Given the description of an element on the screen output the (x, y) to click on. 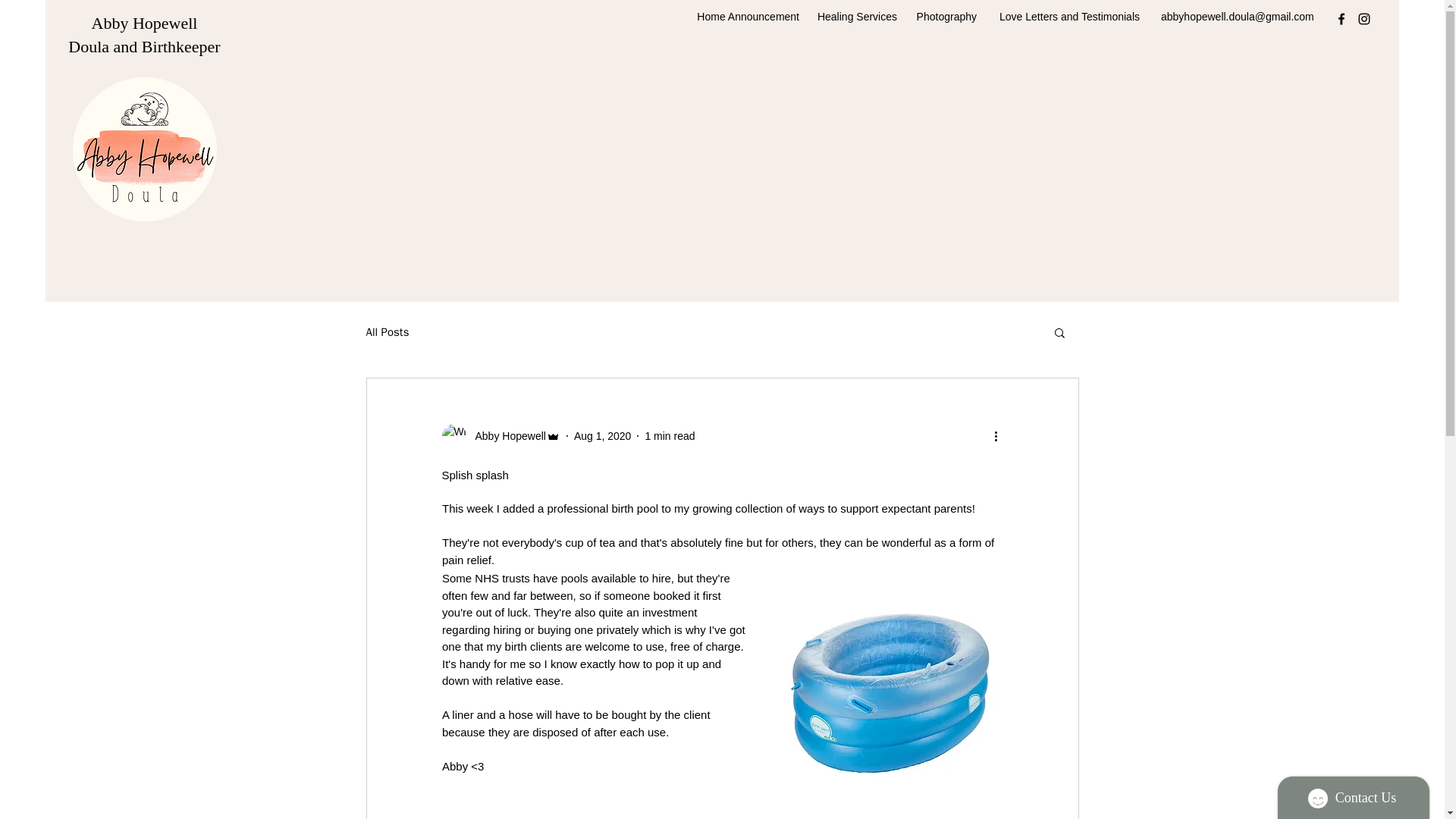
Home Announcement (745, 16)
Abby Hopewell (144, 22)
All Posts (387, 331)
Healing Services (855, 16)
Aug 1, 2020 (602, 435)
Abby Hopewell (504, 435)
Doula and Birthkeeper (143, 46)
1 min read (669, 435)
Love Letters and Testimonials (1065, 16)
Photography (944, 16)
